Given the description of an element on the screen output the (x, y) to click on. 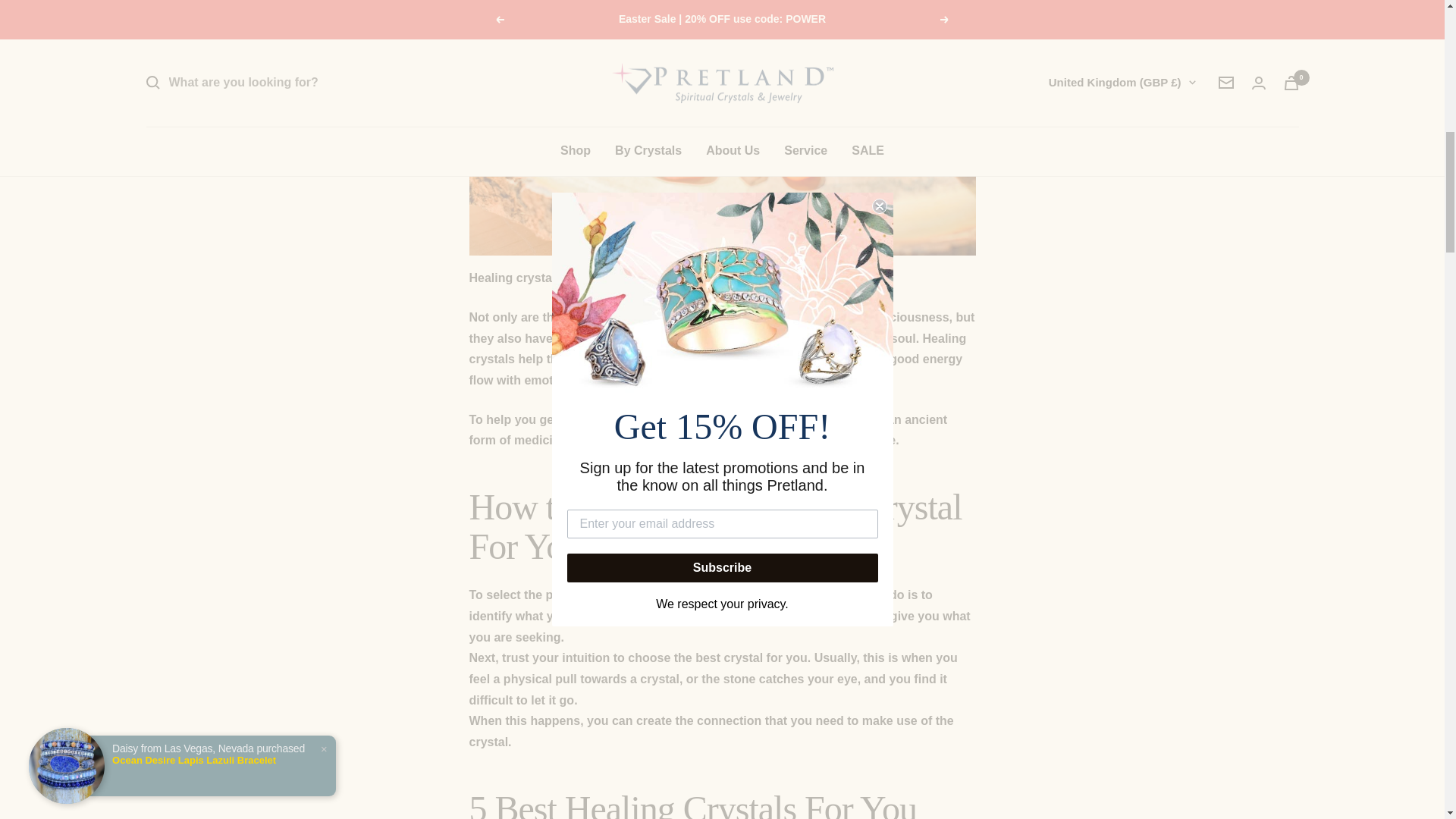
IO (1028, 80)
BA (1028, 6)
VG (1028, 107)
BN (1028, 133)
BR (1028, 54)
BW (1028, 28)
